Given the description of an element on the screen output the (x, y) to click on. 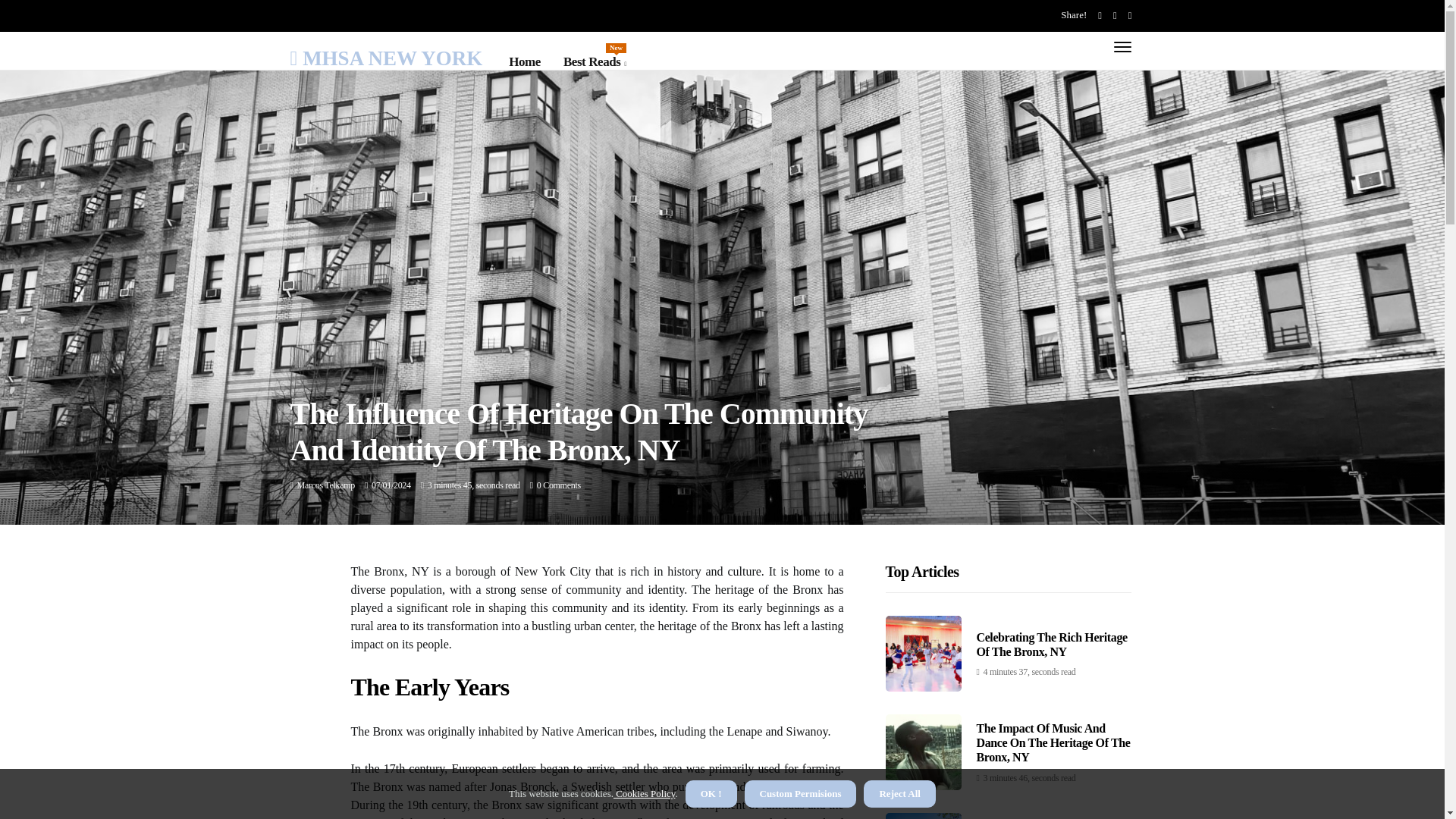
0 Comments (558, 484)
Celebrating The Rich Heritage Of The Bronx, NY (594, 61)
Posts by Marcos Telkamp (1051, 644)
Marcos Telkamp (326, 484)
MHSA NEW YORK (326, 484)
